Given the description of an element on the screen output the (x, y) to click on. 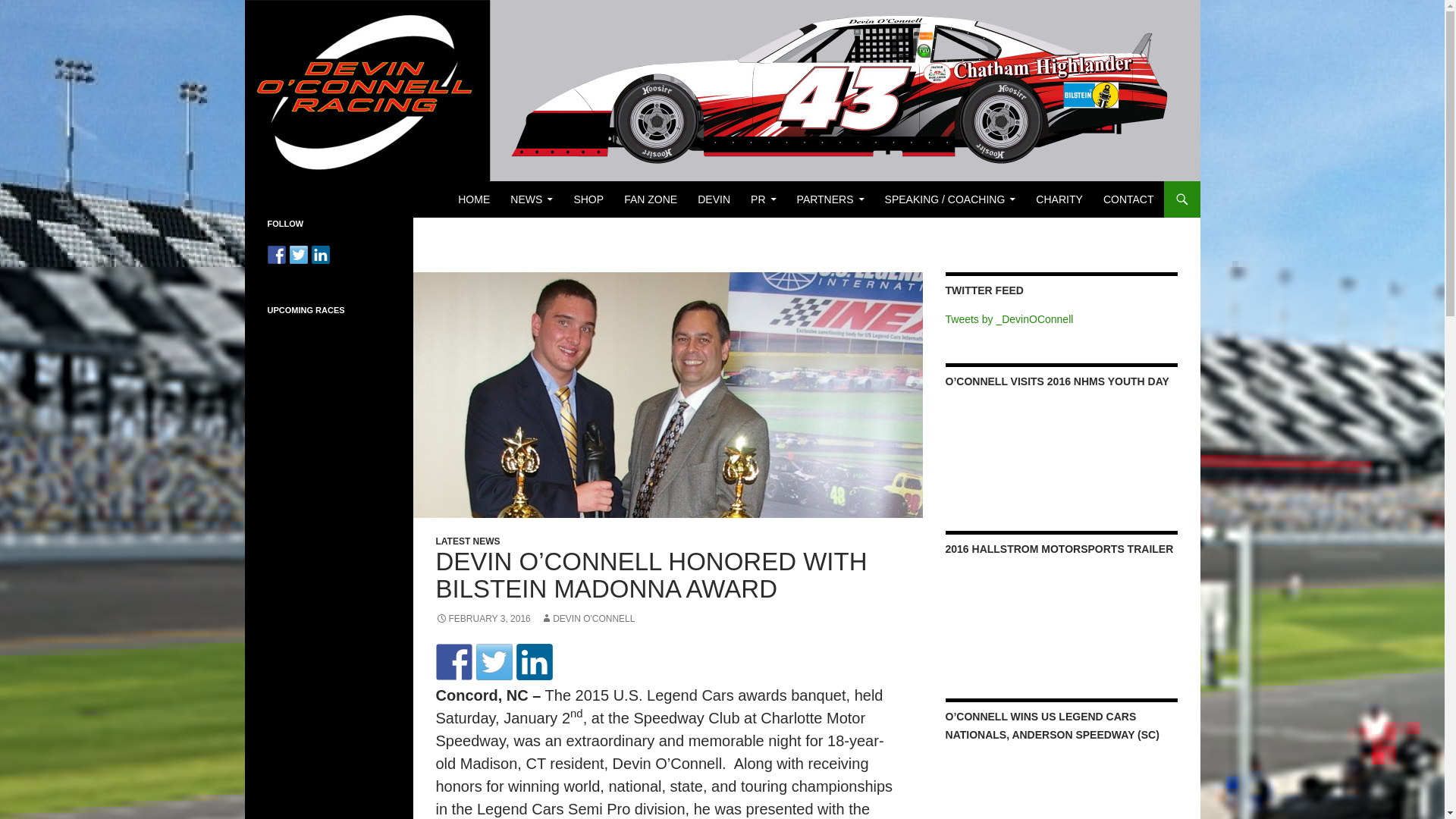
DEVIN O'CONNELL (587, 618)
FAN ZONE (649, 198)
FEBRUARY 3, 2016 (482, 618)
Share on Twitter (298, 254)
DEVIN (713, 198)
Share on Facebook (275, 254)
LATEST NEWS (467, 541)
PARTNERS (830, 198)
